Given the description of an element on the screen output the (x, y) to click on. 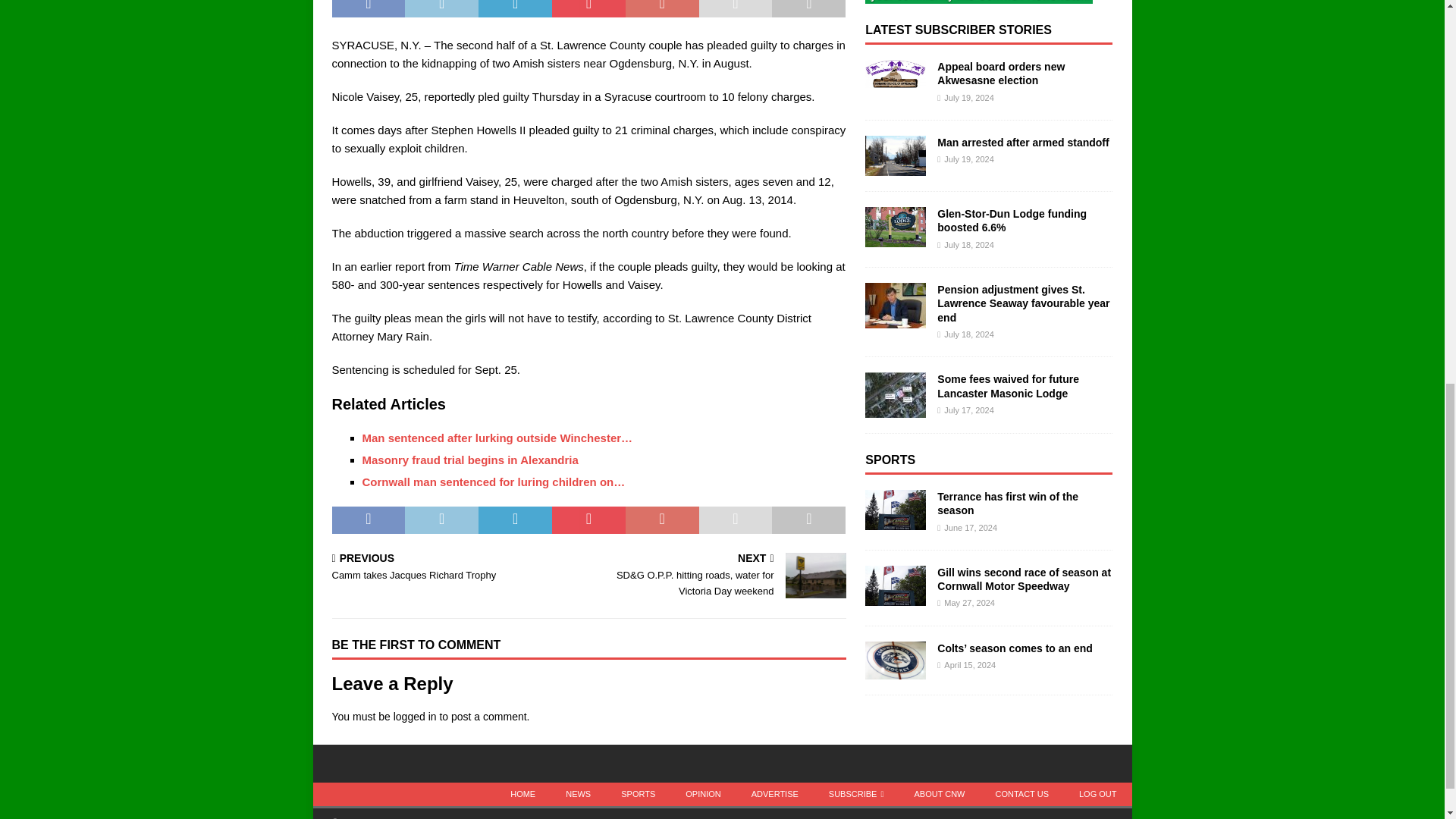
Masonry fraud trial begins in Alexandria (470, 459)
